Given the description of an element on the screen output the (x, y) to click on. 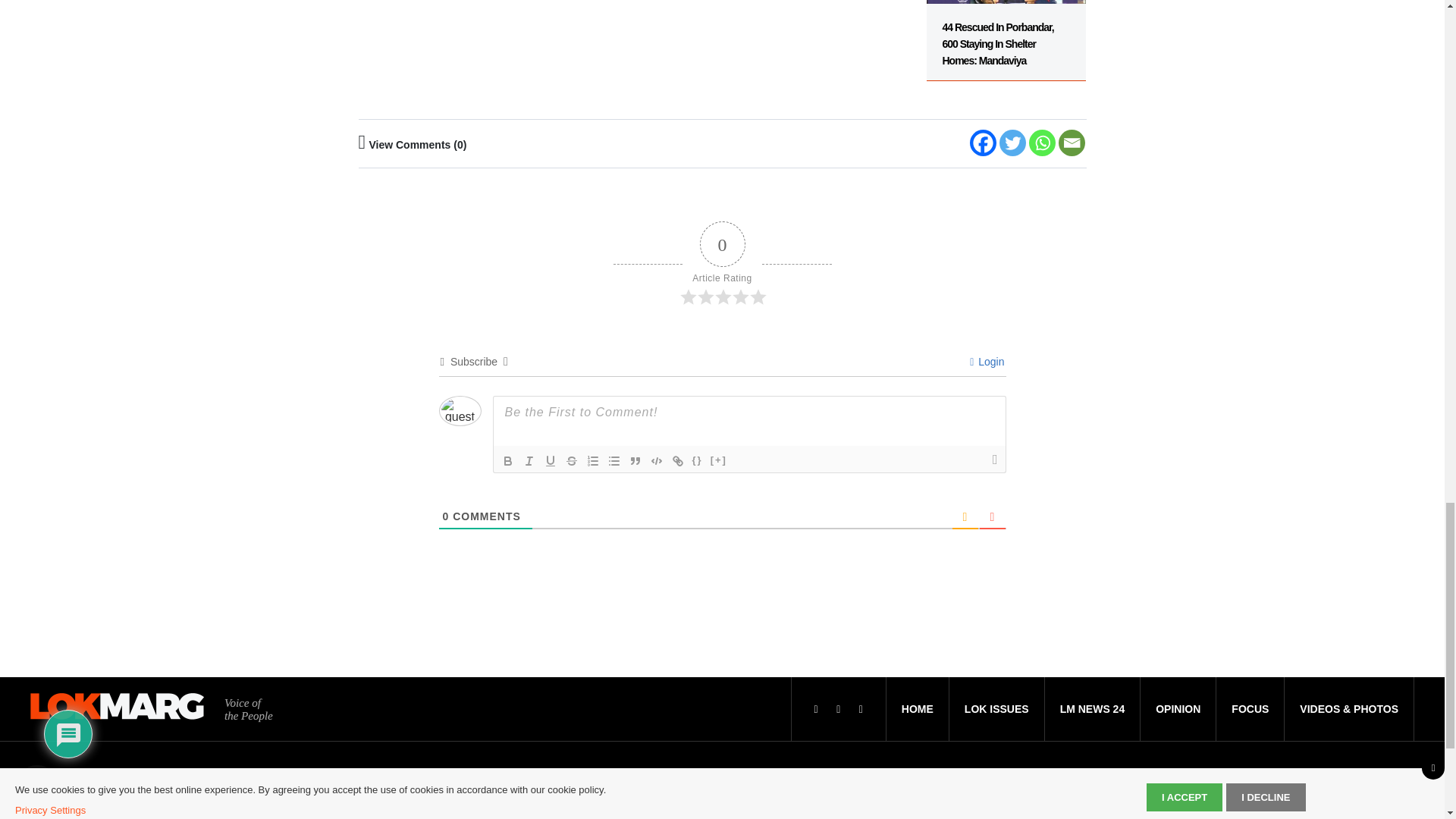
Sign Up (1360, 817)
Login (986, 361)
